Given the description of an element on the screen output the (x, y) to click on. 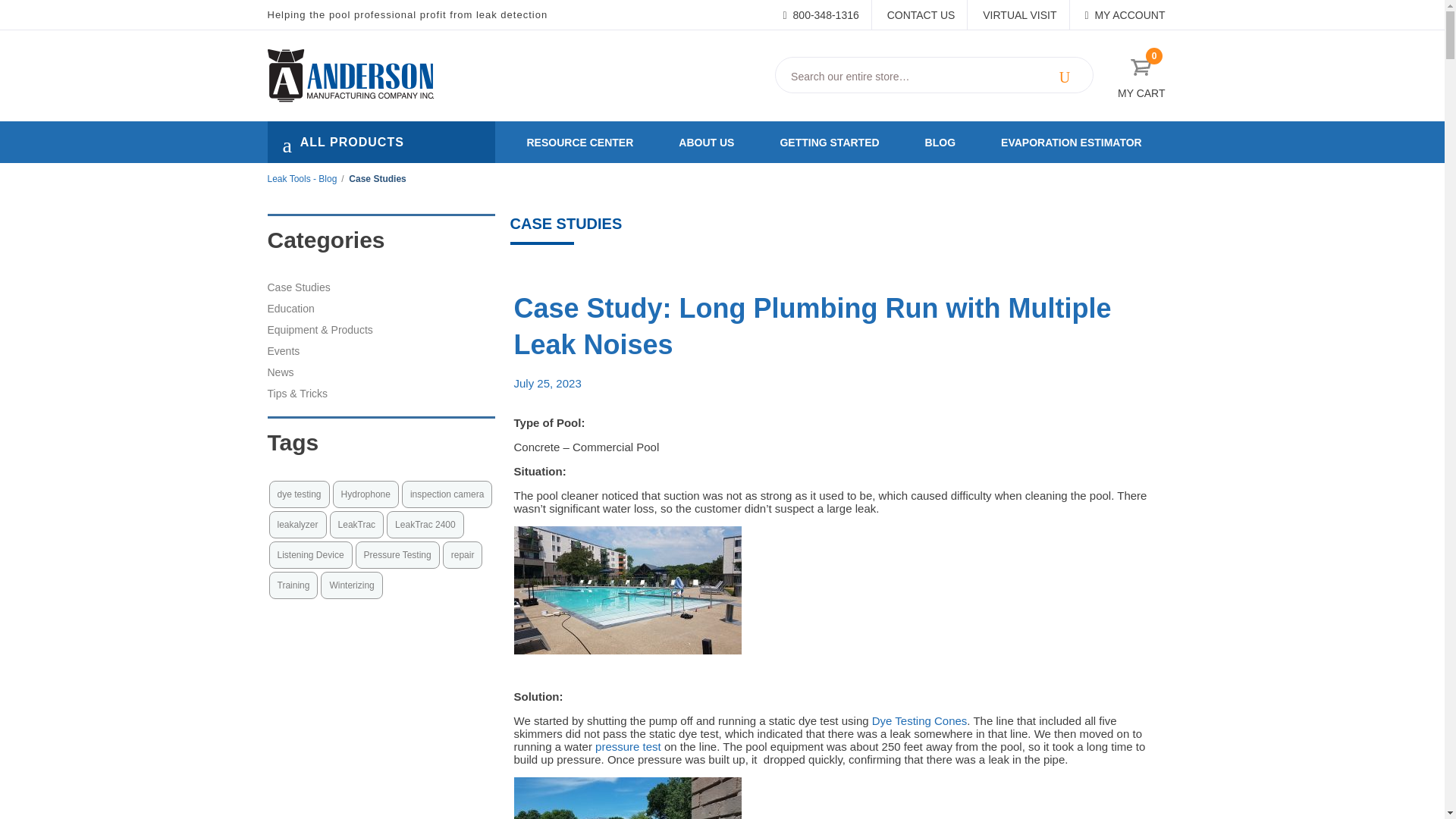
Go to Leak Tools - Blog. (301, 178)
Anderson Manufacturing Company, Inc. (396, 75)
Cart (1141, 66)
Search (1064, 76)
